Given the description of an element on the screen output the (x, y) to click on. 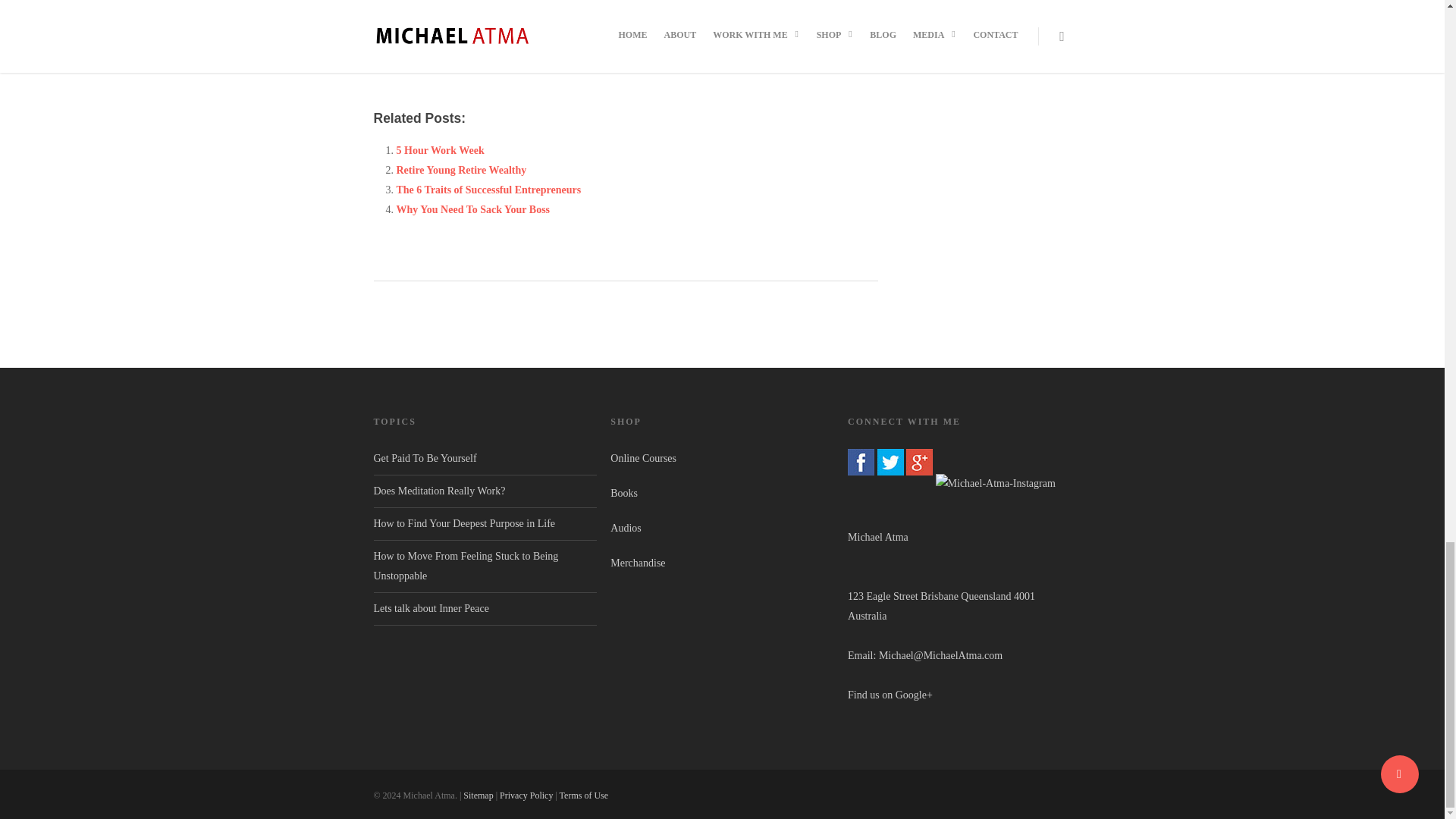
Retire Young Retire Wealthy (460, 170)
5 Hour Work Week (439, 150)
The 6 Traits of Successful Entrepreneurs (488, 189)
Why You Need To Sack Your Boss (473, 209)
